Given the description of an element on the screen output the (x, y) to click on. 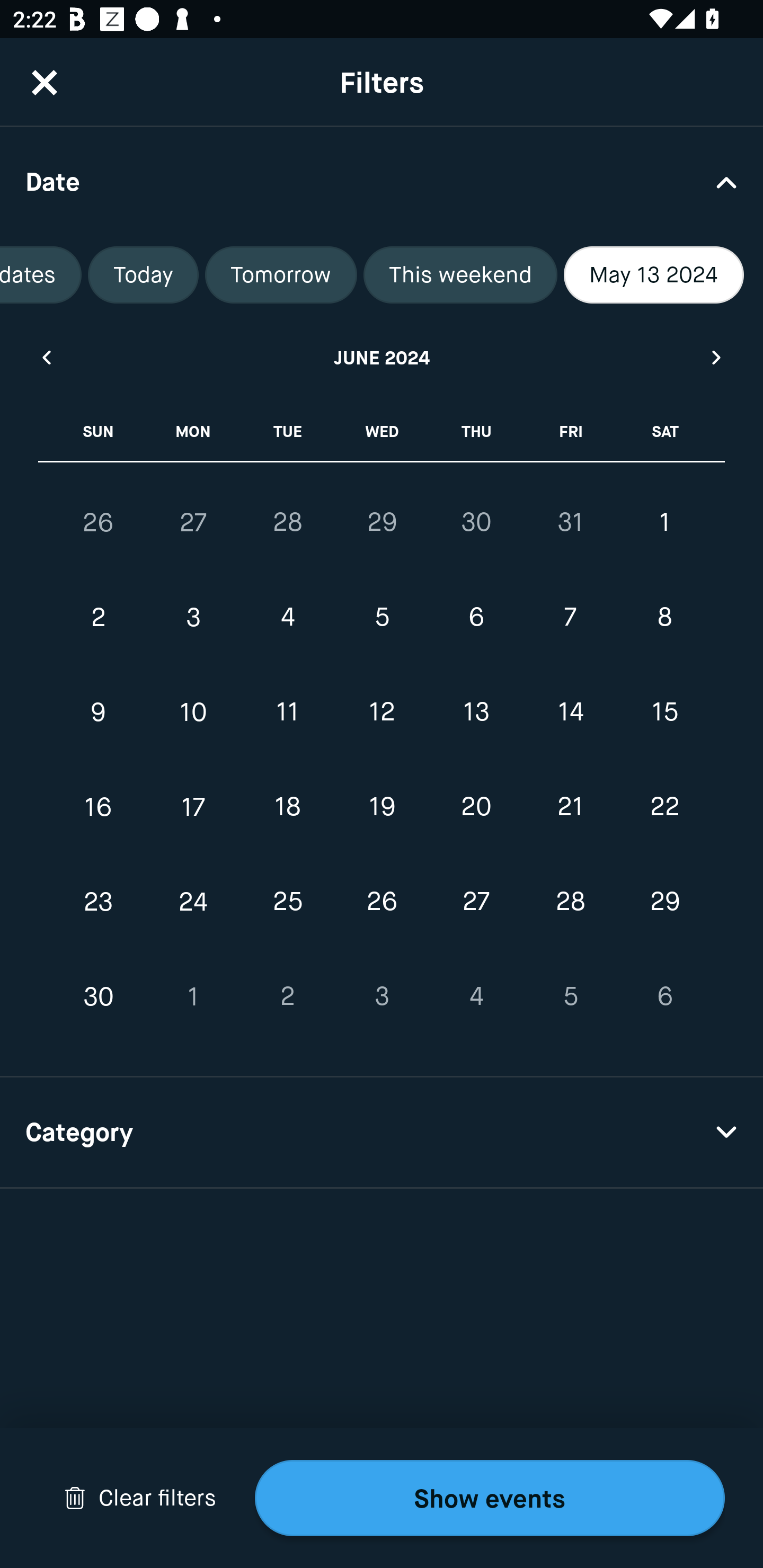
CloseButton (44, 82)
Date Drop Down Arrow (381, 181)
Today (142, 274)
Tomorrow (281, 274)
This weekend (460, 274)
May 13 2024 (653, 274)
Previous (45, 357)
Next (717, 357)
26 (98, 522)
27 (192, 522)
28 (287, 522)
29 (381, 522)
30 (475, 522)
31 (570, 522)
1 (664, 522)
2 (98, 617)
3 (192, 617)
4 (287, 617)
5 (381, 617)
6 (475, 617)
7 (570, 617)
8 (664, 617)
9 (98, 711)
10 (192, 711)
11 (287, 711)
12 (381, 711)
13 (475, 711)
14 (570, 711)
15 (664, 711)
16 (98, 806)
17 (192, 806)
18 (287, 806)
19 (381, 806)
20 (475, 806)
21 (570, 806)
22 (664, 806)
23 (98, 901)
24 (192, 901)
25 (287, 901)
26 (381, 901)
27 (475, 901)
28 (570, 901)
29 (664, 901)
30 (98, 996)
1 (192, 996)
2 (287, 996)
3 (381, 996)
4 (475, 996)
5 (570, 996)
6 (664, 996)
Category Drop Down Arrow (381, 1132)
Drop Down Arrow Clear filters (139, 1497)
Show events (489, 1497)
